Given the description of an element on the screen output the (x, y) to click on. 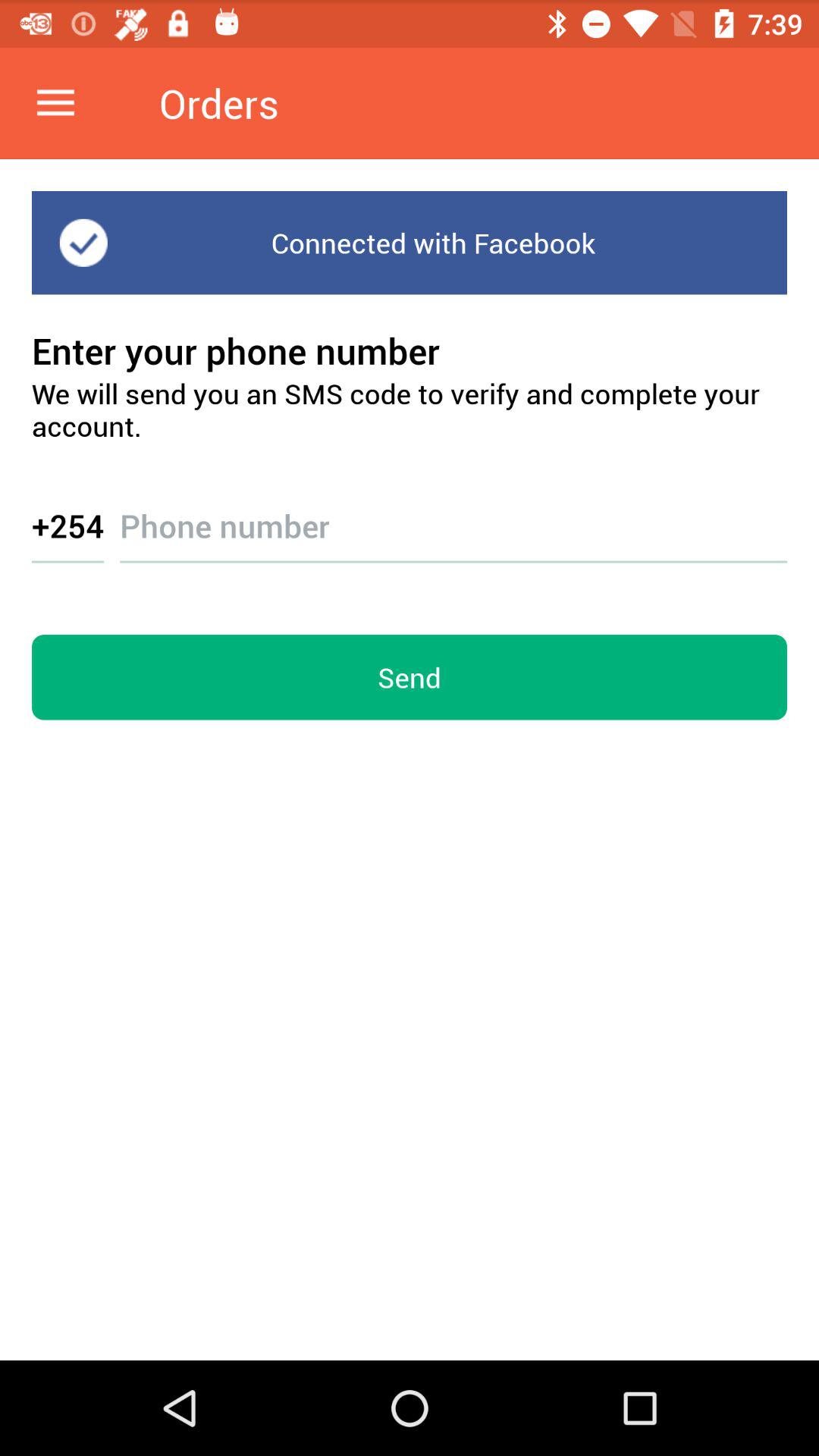
press the icon to the left of orders (55, 103)
